Given the description of an element on the screen output the (x, y) to click on. 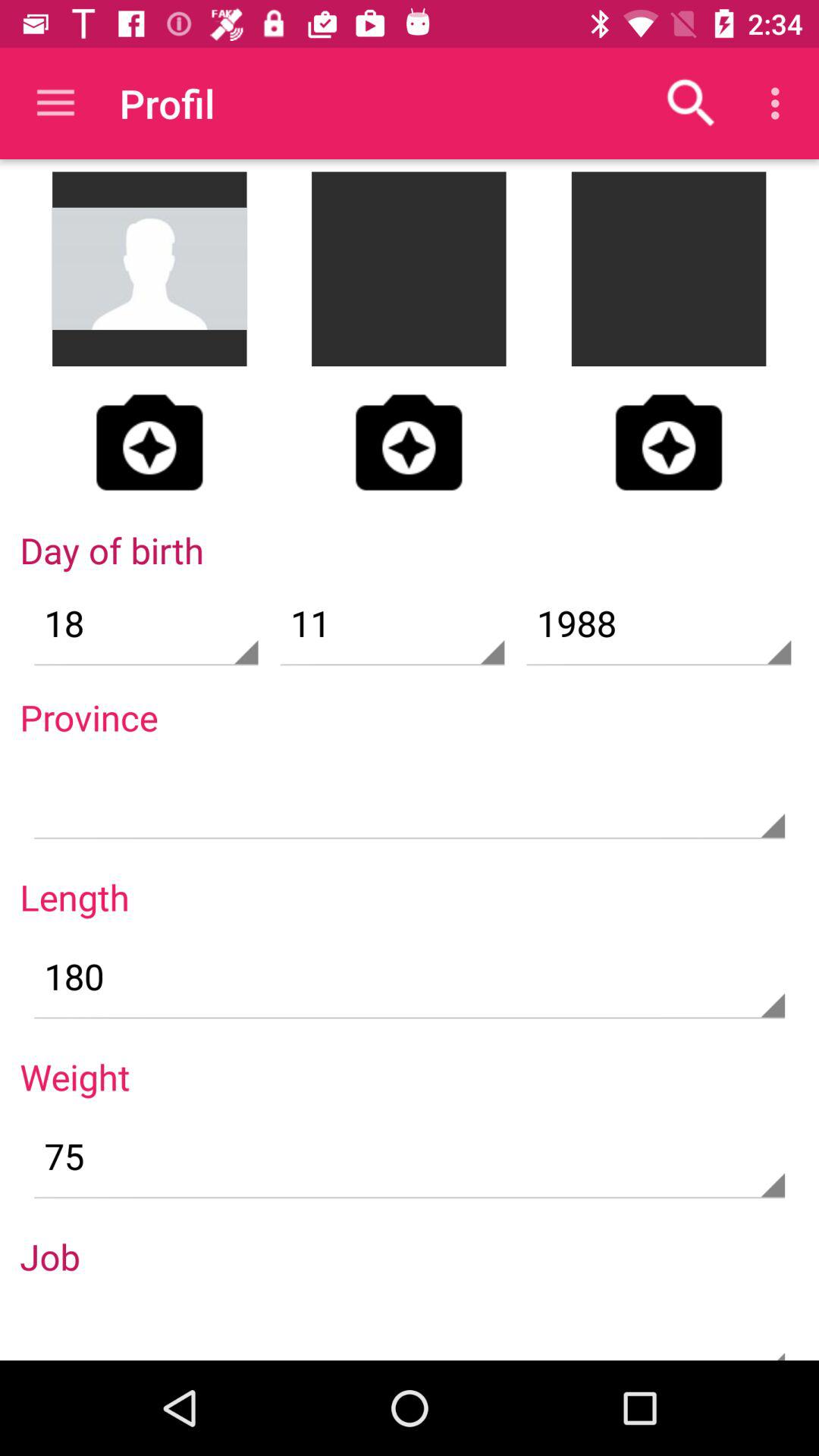
picture (668, 442)
